Given the description of an element on the screen output the (x, y) to click on. 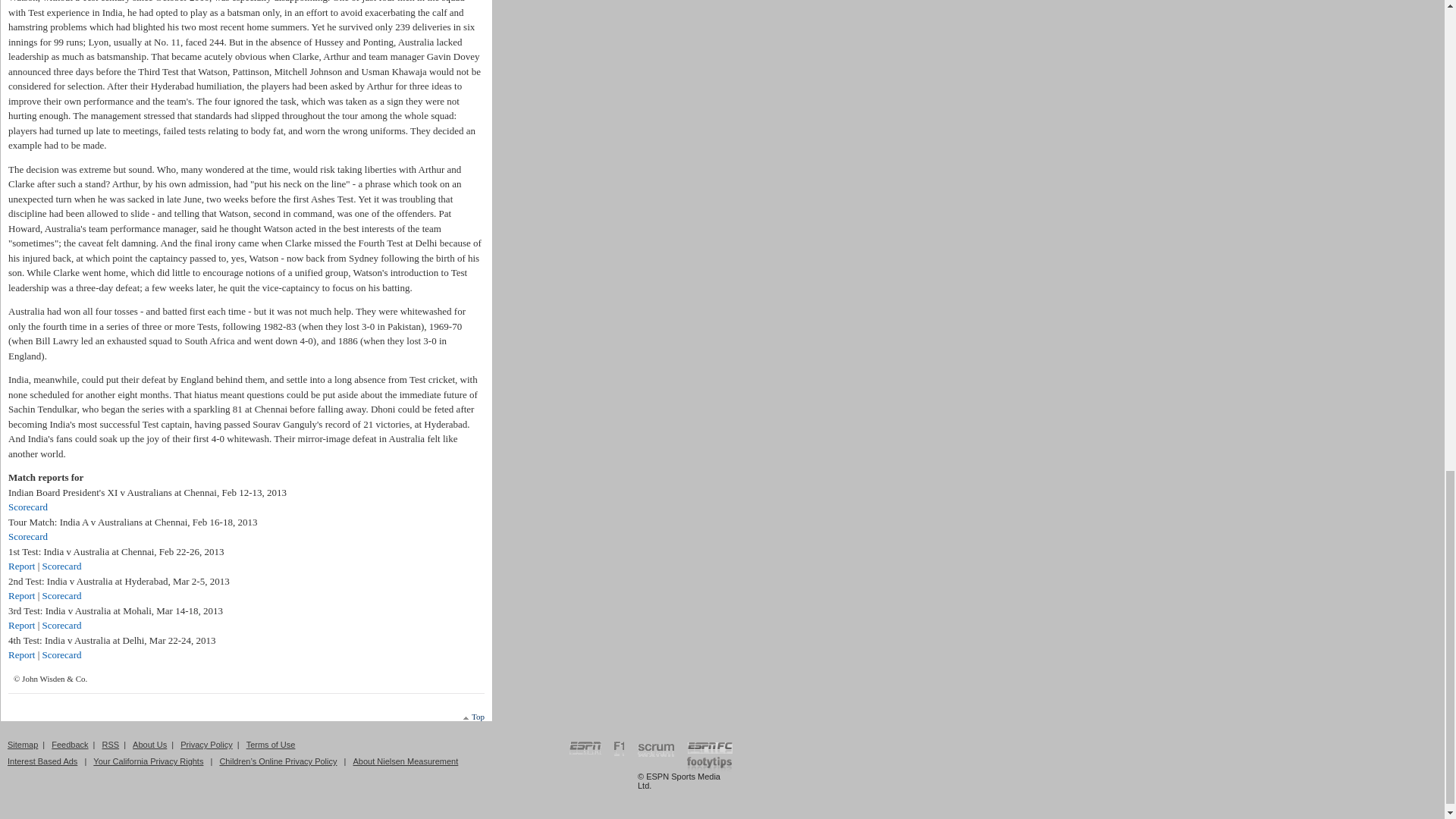
Espnfc (709, 749)
ESPN (585, 749)
ESPN Scrum (656, 750)
Footytips (710, 764)
